Given the description of an element on the screen output the (x, y) to click on. 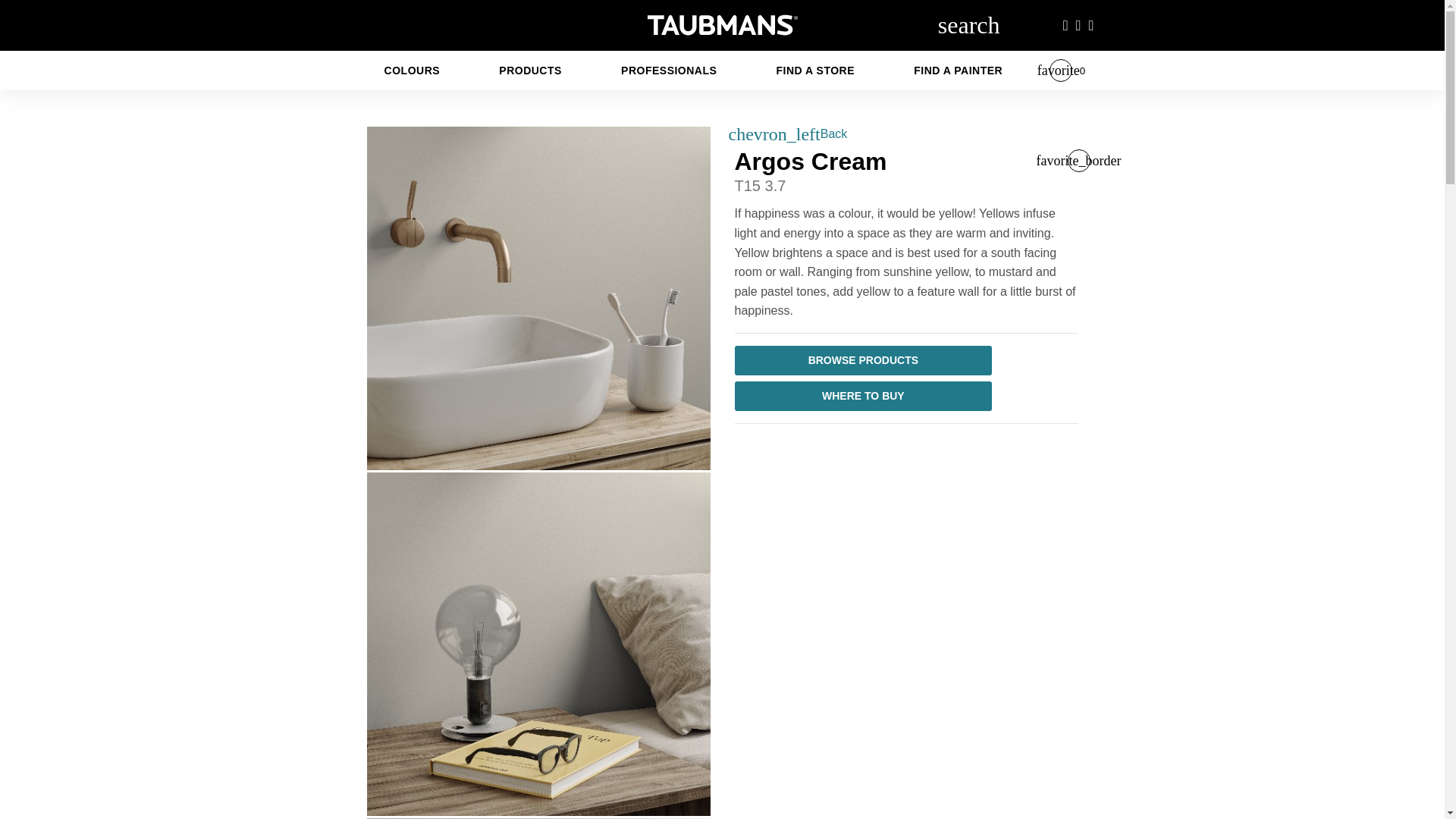
FIND A PAINTER (957, 70)
Colours (412, 70)
COLOURS (412, 70)
search (968, 24)
FIND A STORE (815, 70)
PROFESSIONALS (668, 70)
Taubmans (721, 24)
PRODUCTS (529, 70)
